Given the description of an element on the screen output the (x, y) to click on. 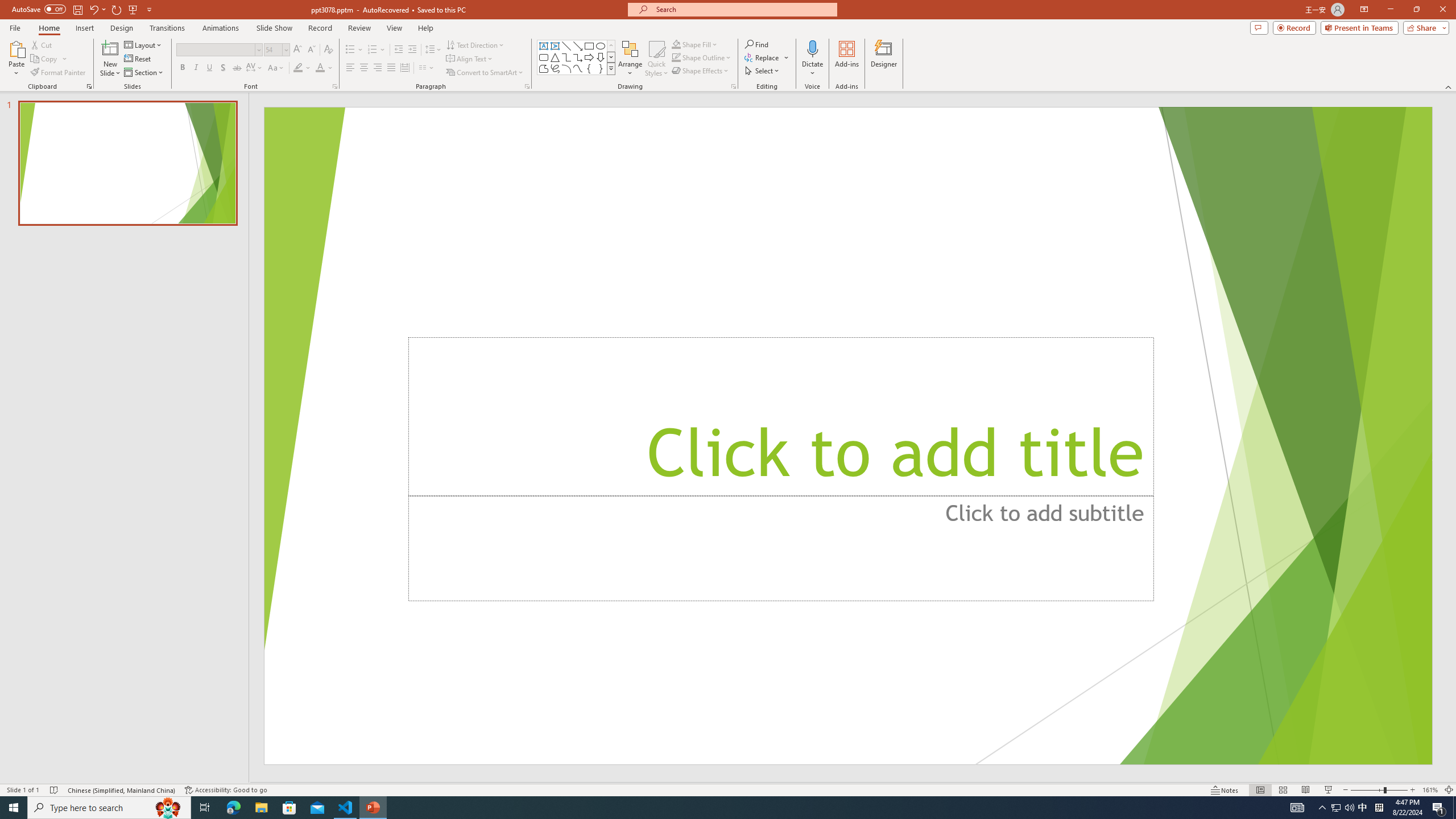
Shape Fill Dark Green, Accent 2 (675, 44)
